Given the description of an element on the screen output the (x, y) to click on. 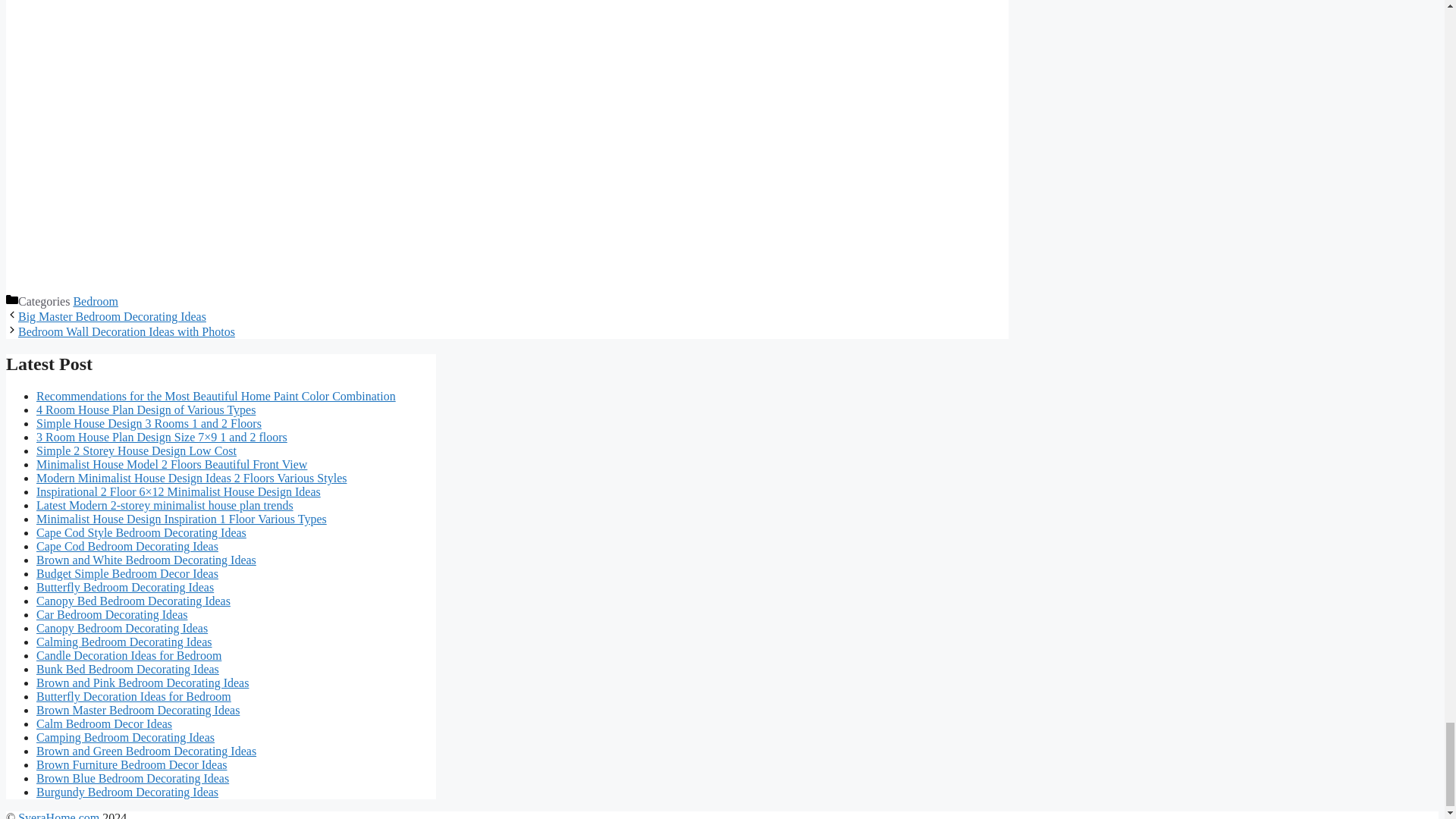
Bedroom (94, 300)
Latest Modern 2-storey minimalist house plan trends (165, 504)
4 Room House Plan Design of Various Types (146, 409)
Minimalist House Model 2 Floors Beautiful Front View (171, 463)
Simple House Design 3 Rooms 1 and 2 Floors (149, 422)
Big Master Bedroom Decorating Ideas (111, 316)
Bedroom Wall Decoration Ideas with Photos (125, 331)
Minimalist House Design Inspiration 1 Floor Various Types (181, 518)
